Given the description of an element on the screen output the (x, y) to click on. 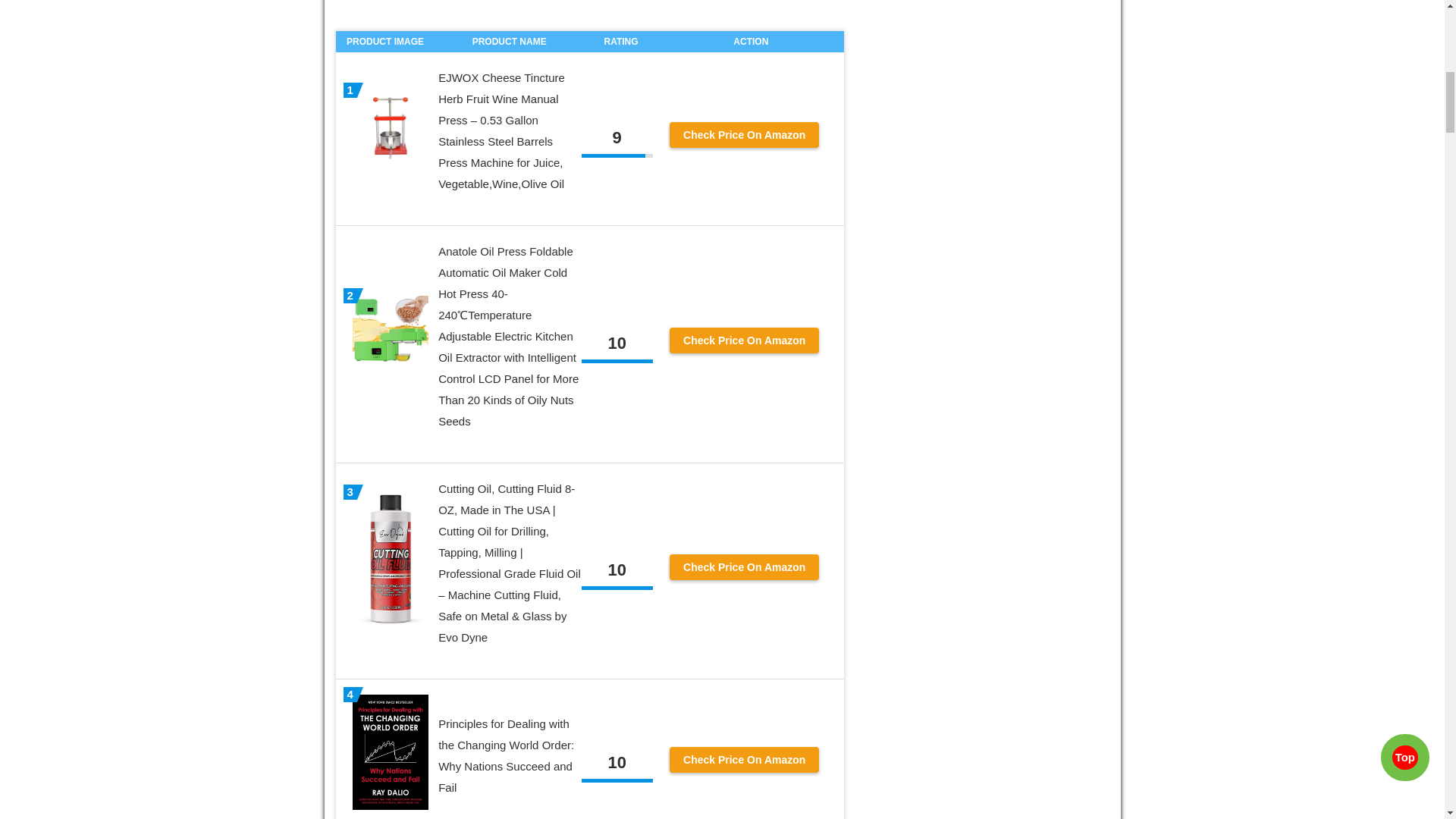
Check Price On Amazon (743, 135)
Check Price On Amazon (743, 566)
Check Price On Amazon (743, 339)
Check Price On Amazon (743, 759)
